Given the description of an element on the screen output the (x, y) to click on. 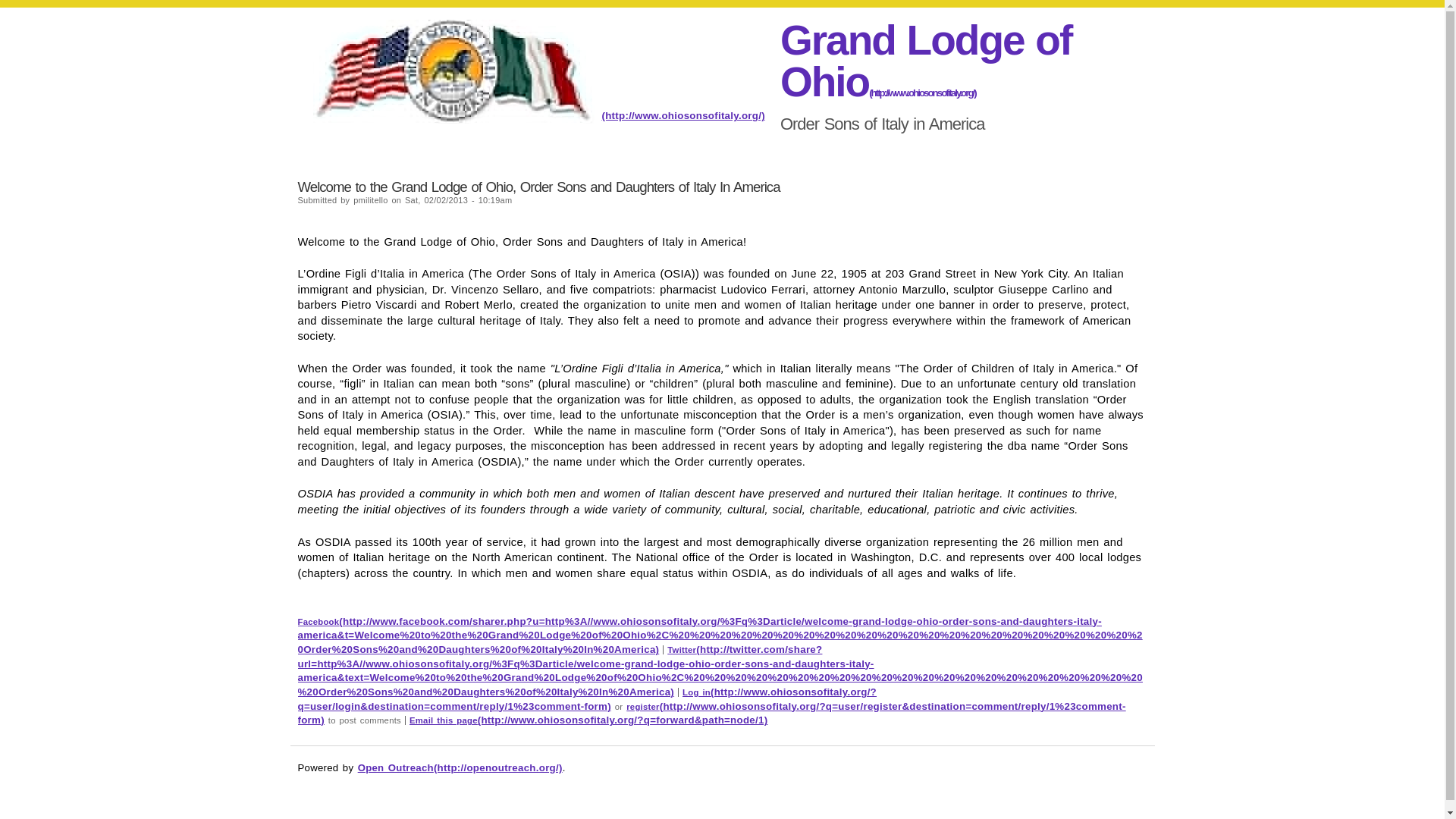
Home page (538, 114)
Home page (925, 60)
Grand Lodge of Ohio (925, 60)
